Given the description of an element on the screen output the (x, y) to click on. 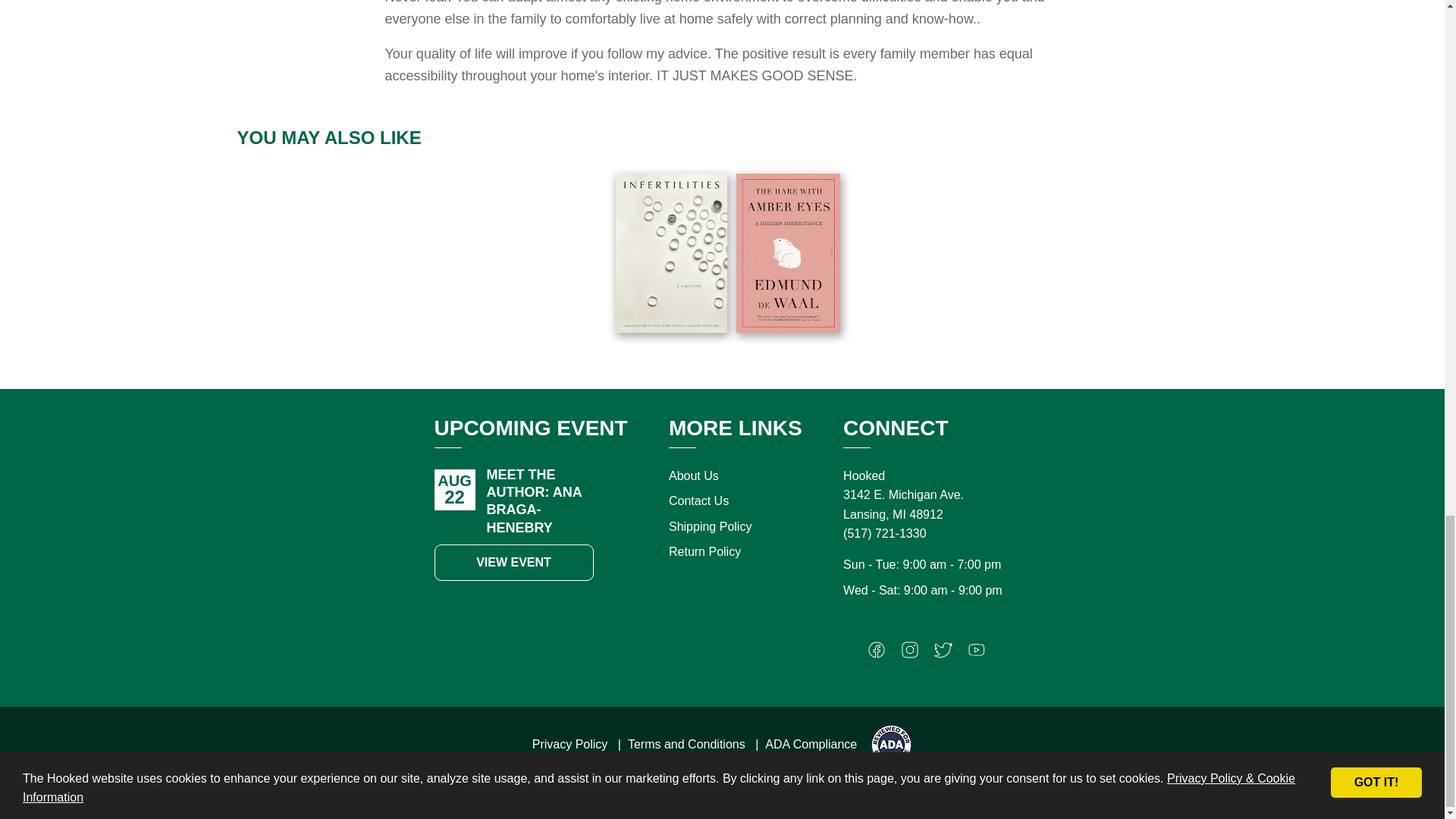
Connect with Twitter (943, 653)
Connect with Youtube Channel (976, 653)
Connect with Facebook (876, 653)
Connect with Instagram (909, 653)
